Given the description of an element on the screen output the (x, y) to click on. 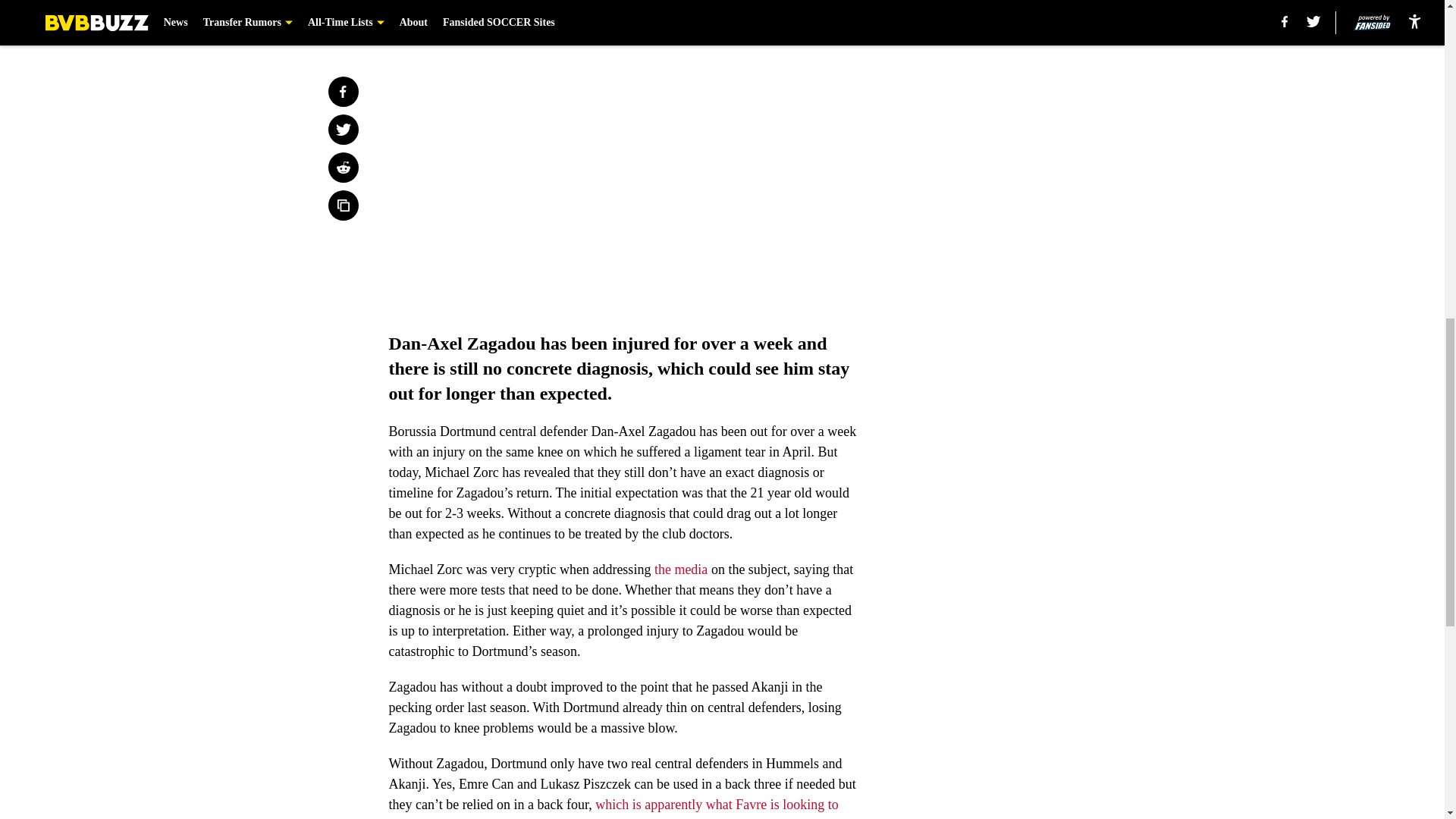
the media (678, 569)
which is apparently what Favre is looking to do (613, 807)
